Given the description of an element on the screen output the (x, y) to click on. 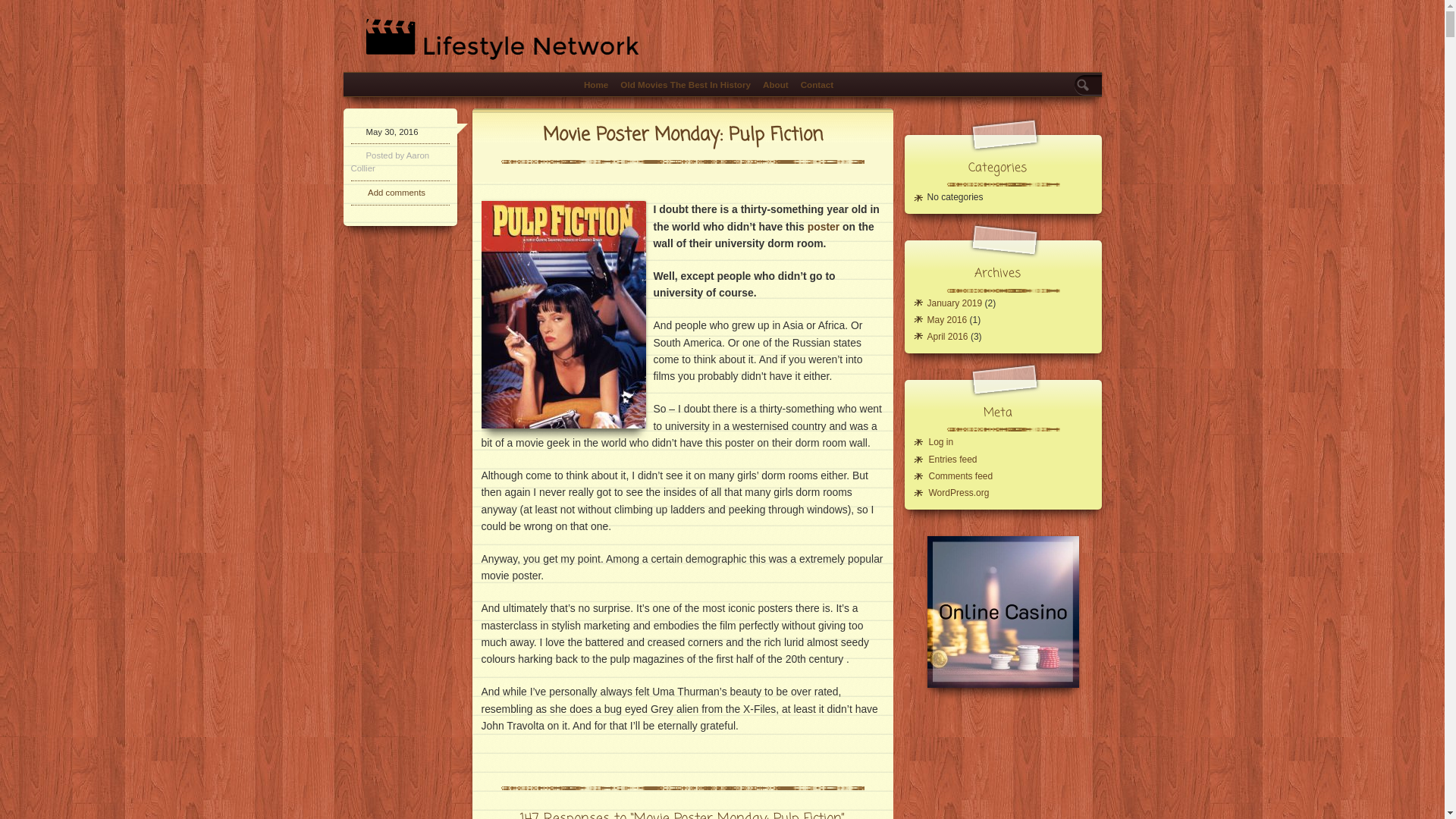
May 2016 Element type: text (946, 319)
Add comments Element type: text (396, 192)
Log in Element type: text (940, 441)
About Element type: text (775, 84)
Lifestyle Network Element type: text (401, 54)
Old Movies The Best In History Element type: text (685, 84)
Home Element type: text (595, 84)
January 2019 Element type: text (954, 303)
Movie Poster Monday: Pulp Fiction Element type: text (682, 135)
Contact Element type: text (816, 84)
April 2016 Element type: text (946, 336)
WordPress.org Element type: text (958, 492)
poster Element type: text (823, 226)
Comments feed Element type: text (960, 475)
Entries feed Element type: text (952, 458)
